Given the description of an element on the screen output the (x, y) to click on. 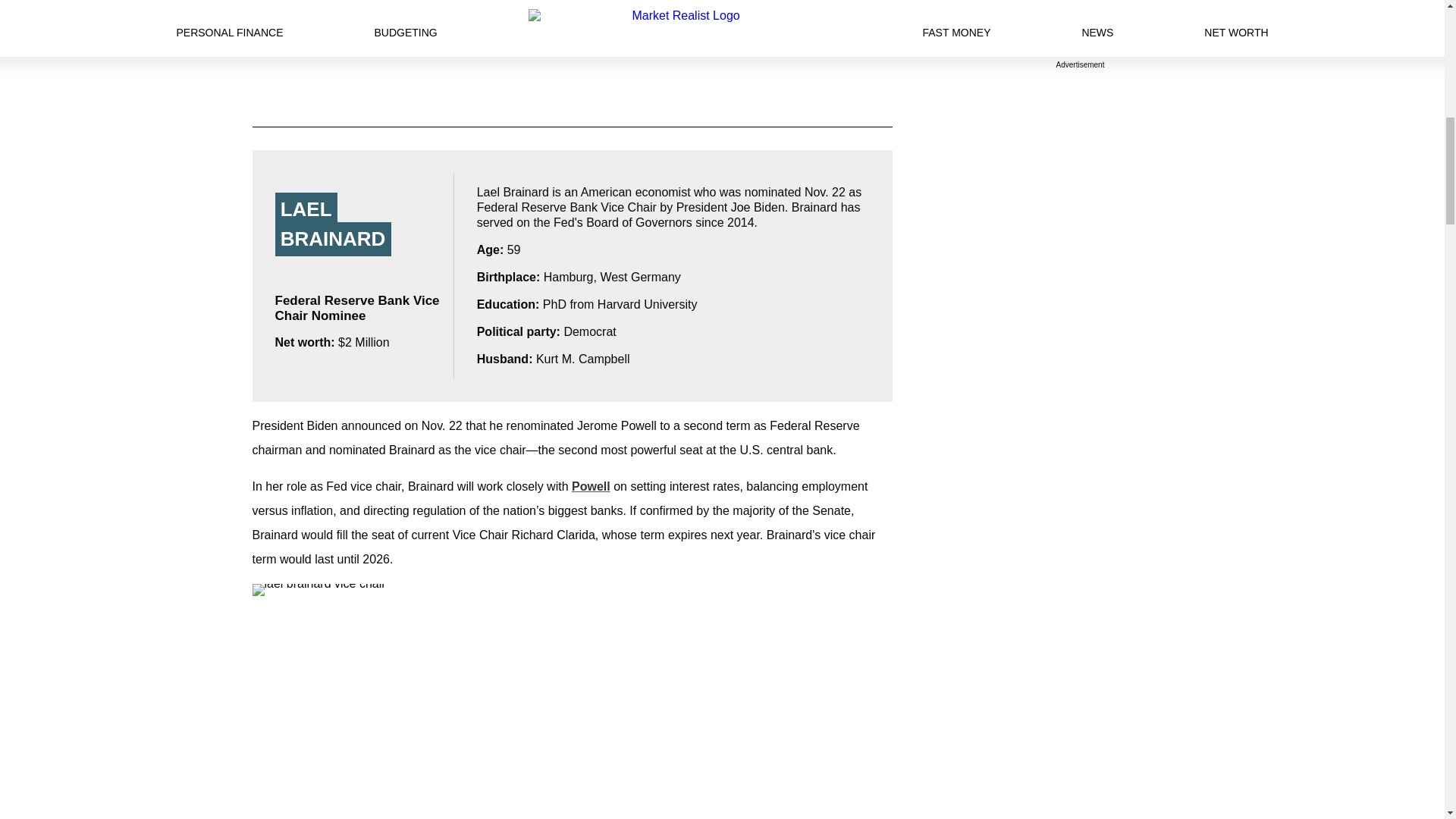
Powell (591, 486)
